Given the description of an element on the screen output the (x, y) to click on. 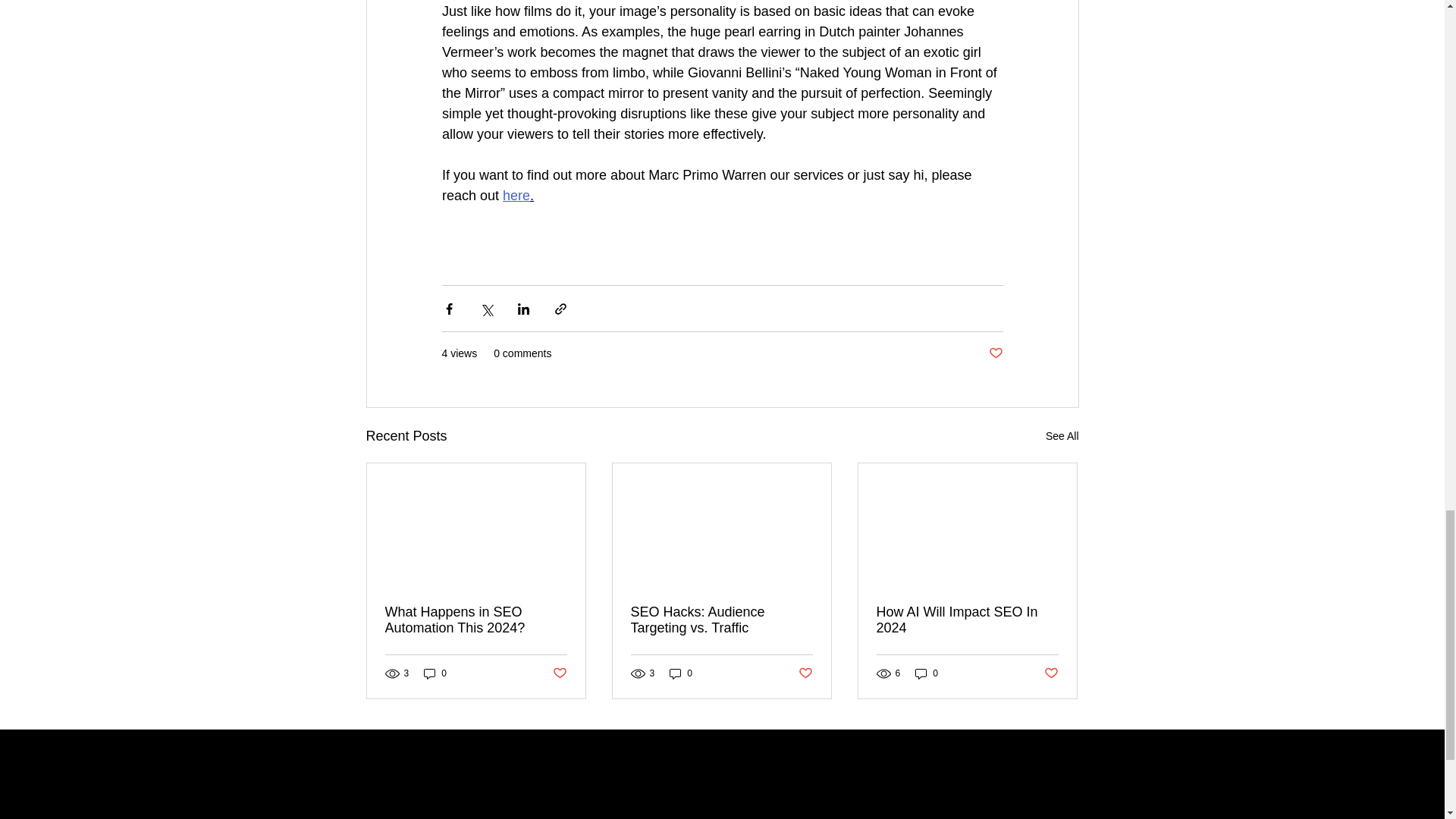
How AI Will Impact SEO In 2024 (967, 620)
What Happens in SEO Automation This 2024? (476, 620)
0 (435, 672)
here (515, 195)
See All (1061, 436)
Post not marked as liked (995, 353)
Post not marked as liked (1050, 673)
SEO Hacks: Audience Targeting vs. Traffic (721, 620)
0 (926, 672)
Post not marked as liked (558, 673)
Post not marked as liked (804, 673)
0 (681, 672)
